Given the description of an element on the screen output the (x, y) to click on. 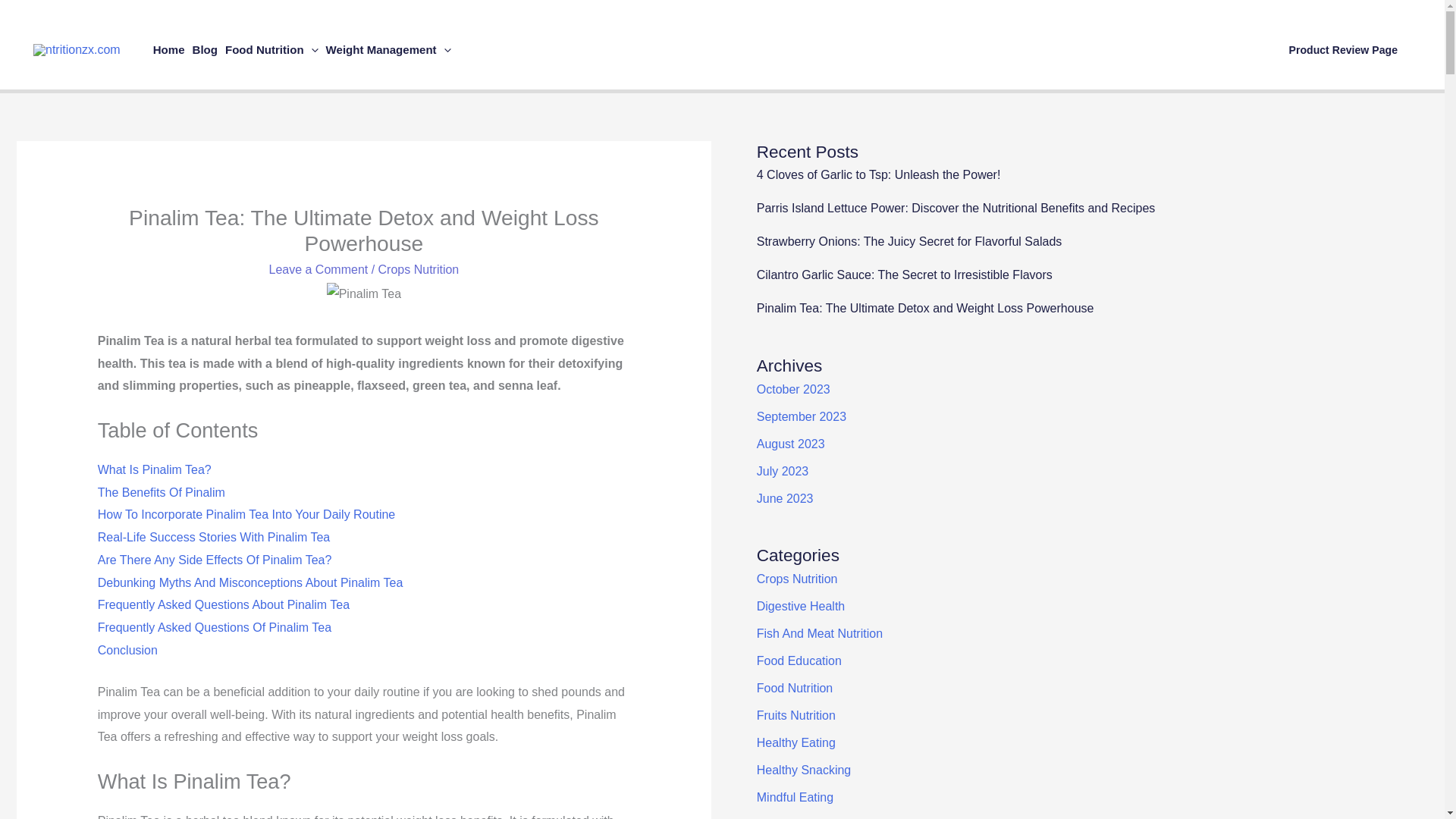
Crops Nutrition (419, 269)
Weight Management (387, 49)
Leave a Comment (317, 269)
Food Nutrition (271, 49)
Product Review Page (1343, 50)
